Given the description of an element on the screen output the (x, y) to click on. 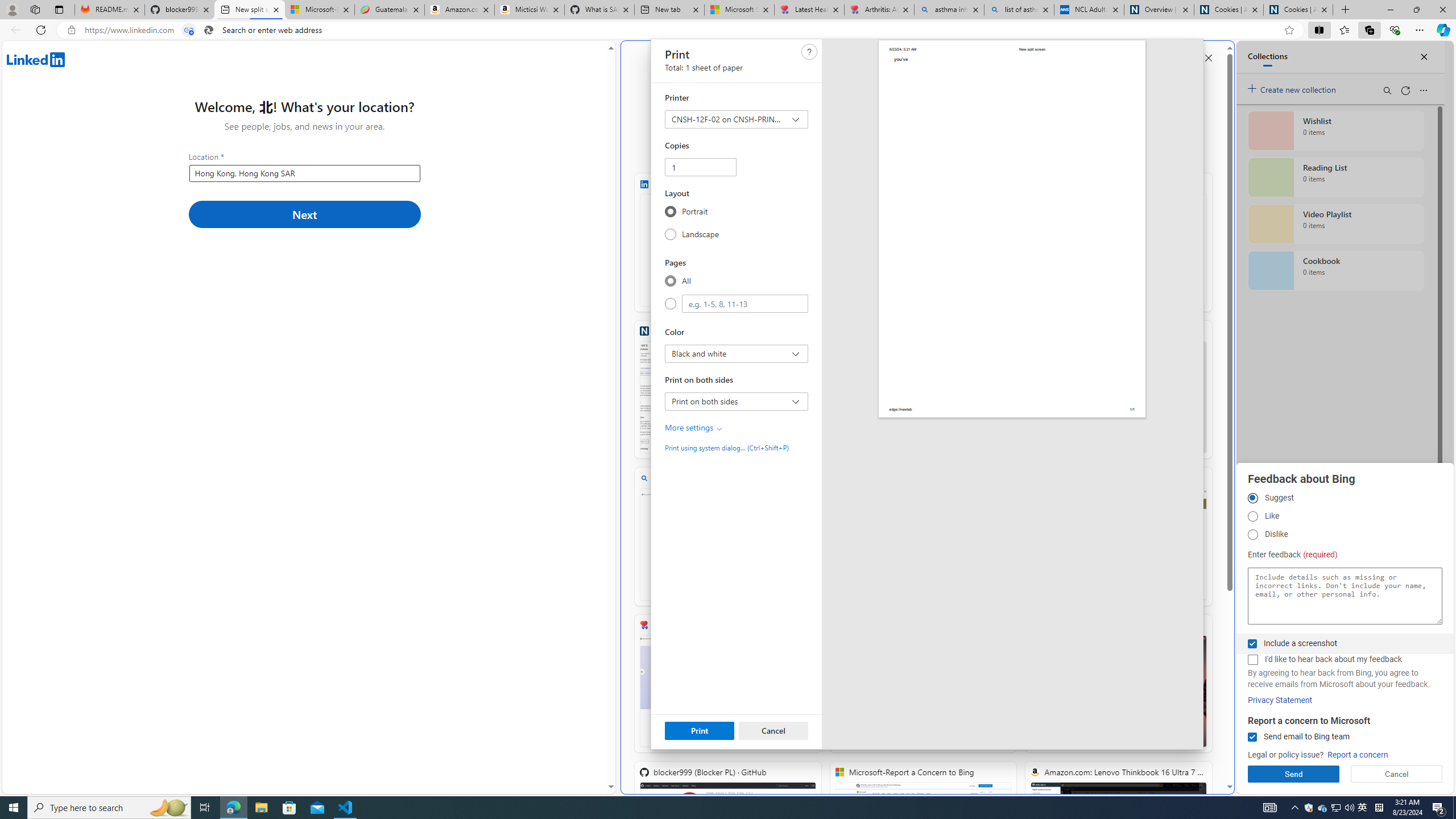
Class: c0129 (809, 51)
